Given the description of an element on the screen output the (x, y) to click on. 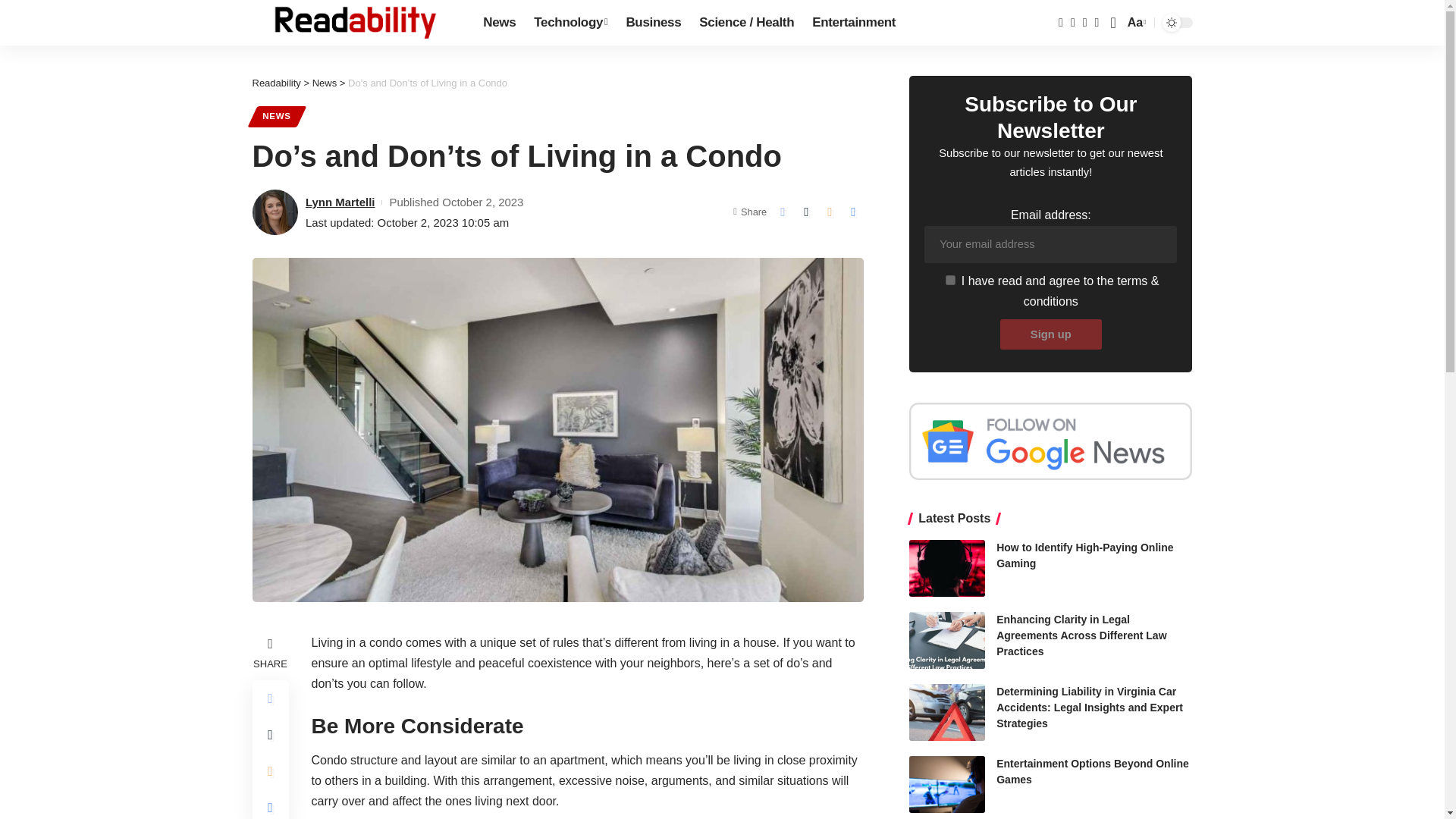
Readability (354, 22)
Go to the News Category archives. (325, 82)
1 (949, 280)
How to Identify High-Paying Online Gaming (946, 568)
Business (652, 22)
Entertainment Options Beyond Online Games (946, 784)
News (499, 22)
Go to Readability. (1135, 22)
Sign up (275, 82)
Technology (1051, 334)
Entertainment (569, 22)
